Given the description of an element on the screen output the (x, y) to click on. 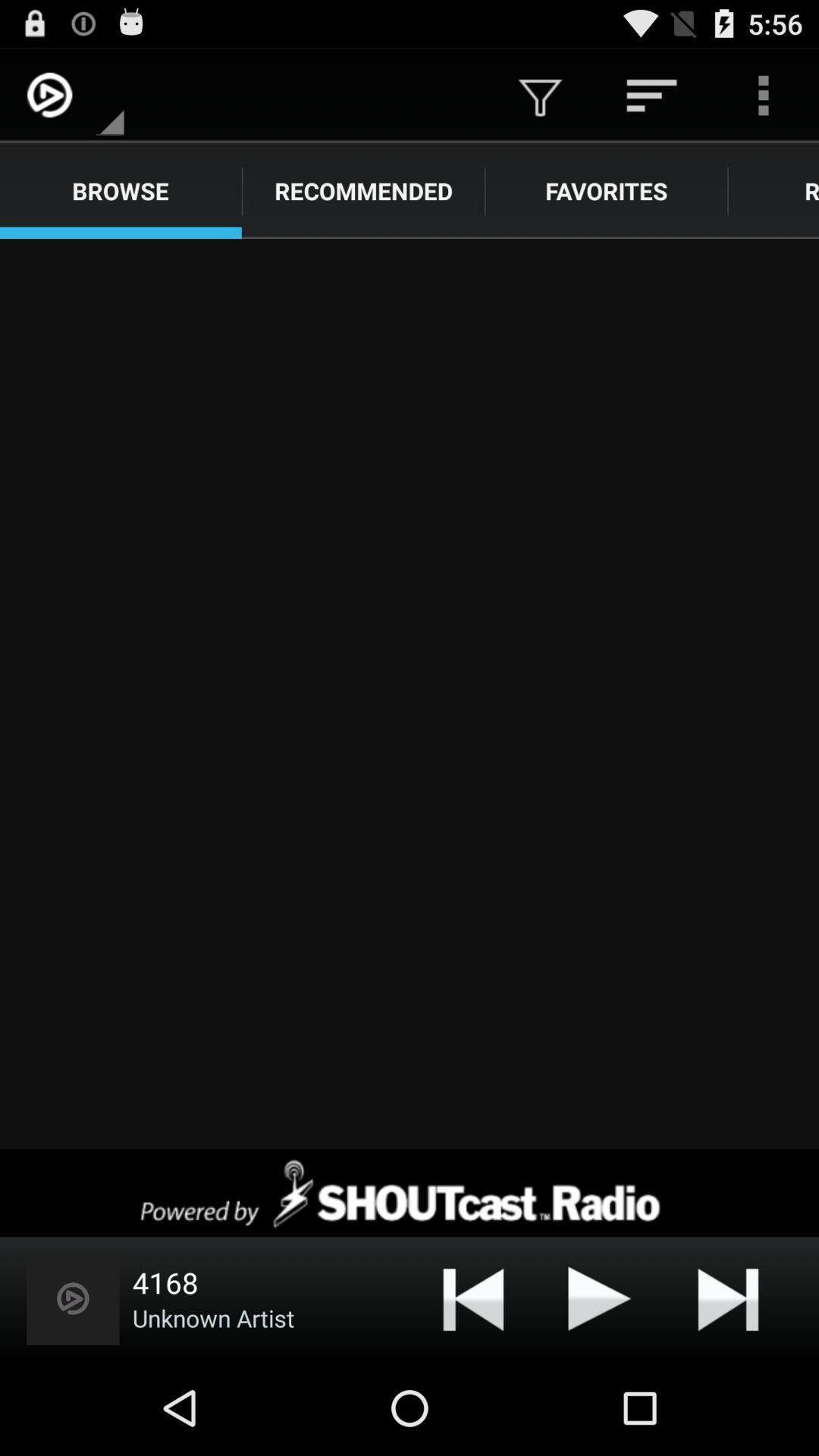
choose the app above browse (109, 95)
